Given the description of an element on the screen output the (x, y) to click on. 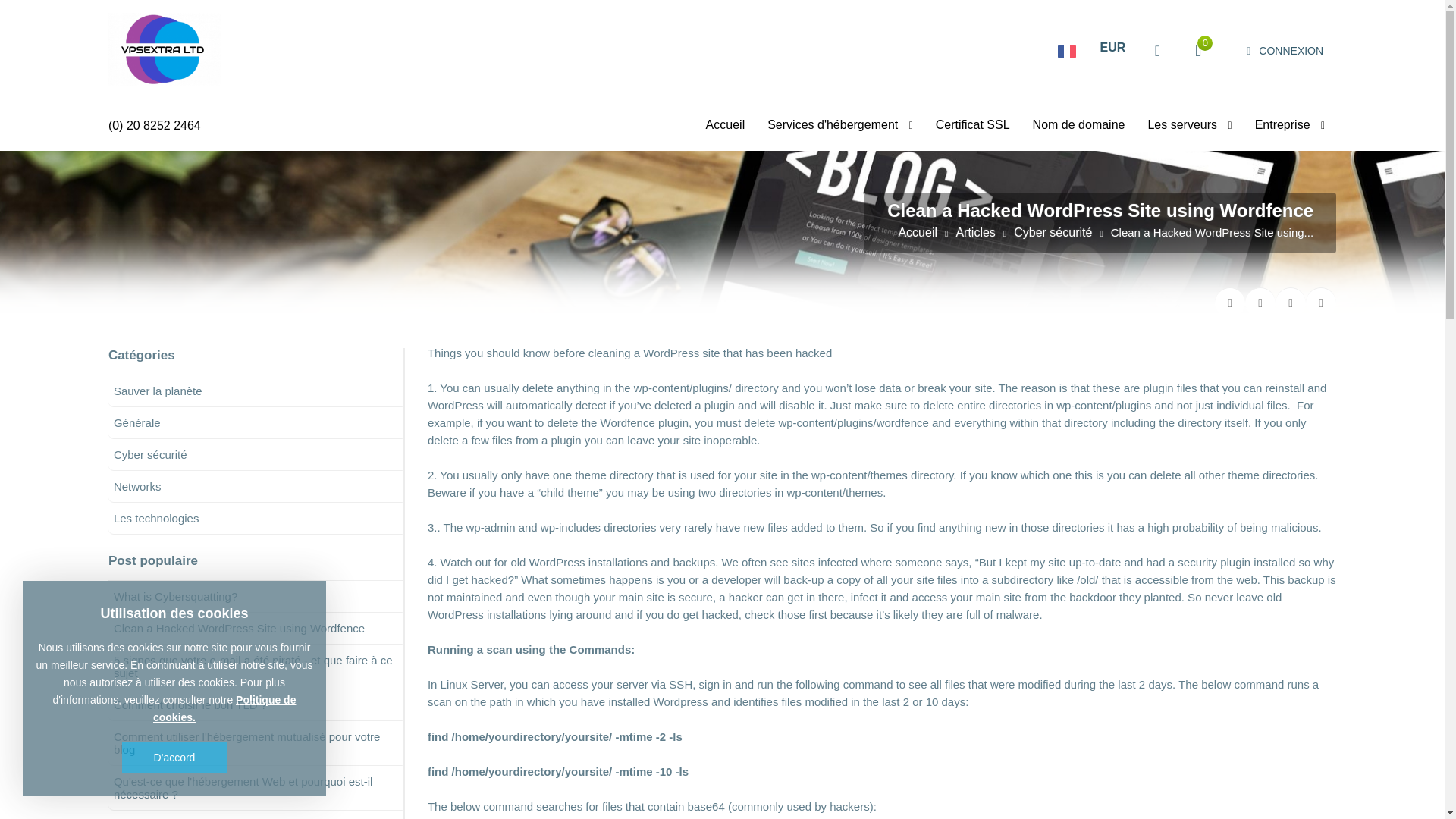
0 (1198, 50)
Accueil (725, 124)
Logo (164, 49)
CONNEXION (1284, 51)
EUR (1113, 47)
